Given the description of an element on the screen output the (x, y) to click on. 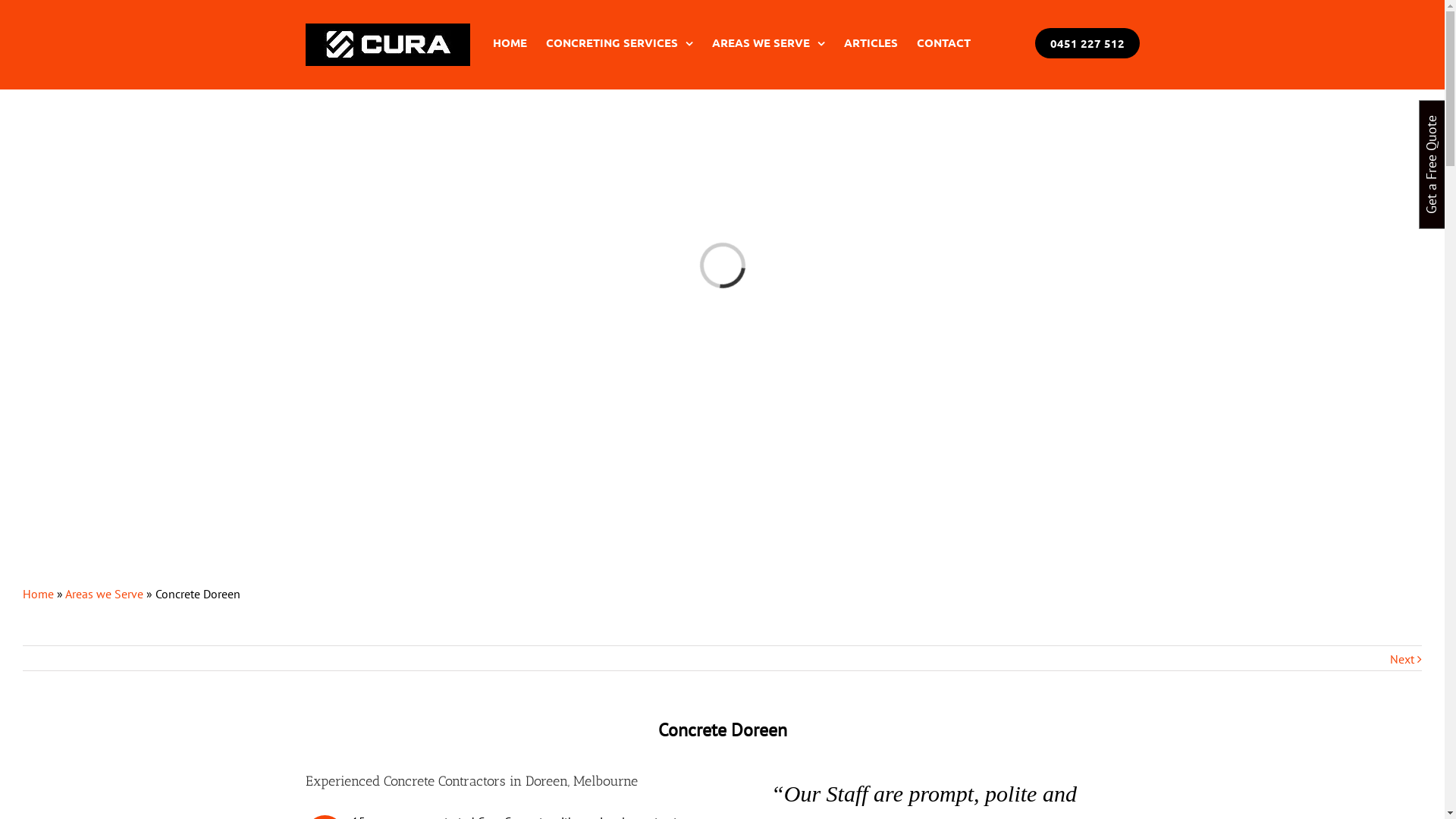
Home Element type: text (37, 593)
CONCRETING SERVICES Element type: text (619, 42)
Areas we Serve Element type: text (104, 593)
HOME Element type: text (509, 42)
0451 227 512 Element type: text (1086, 43)
CONTACT Element type: text (942, 42)
Next Element type: text (1402, 658)
ARTICLES Element type: text (870, 42)
AREAS WE SERVE Element type: text (767, 42)
